Given the description of an element on the screen output the (x, y) to click on. 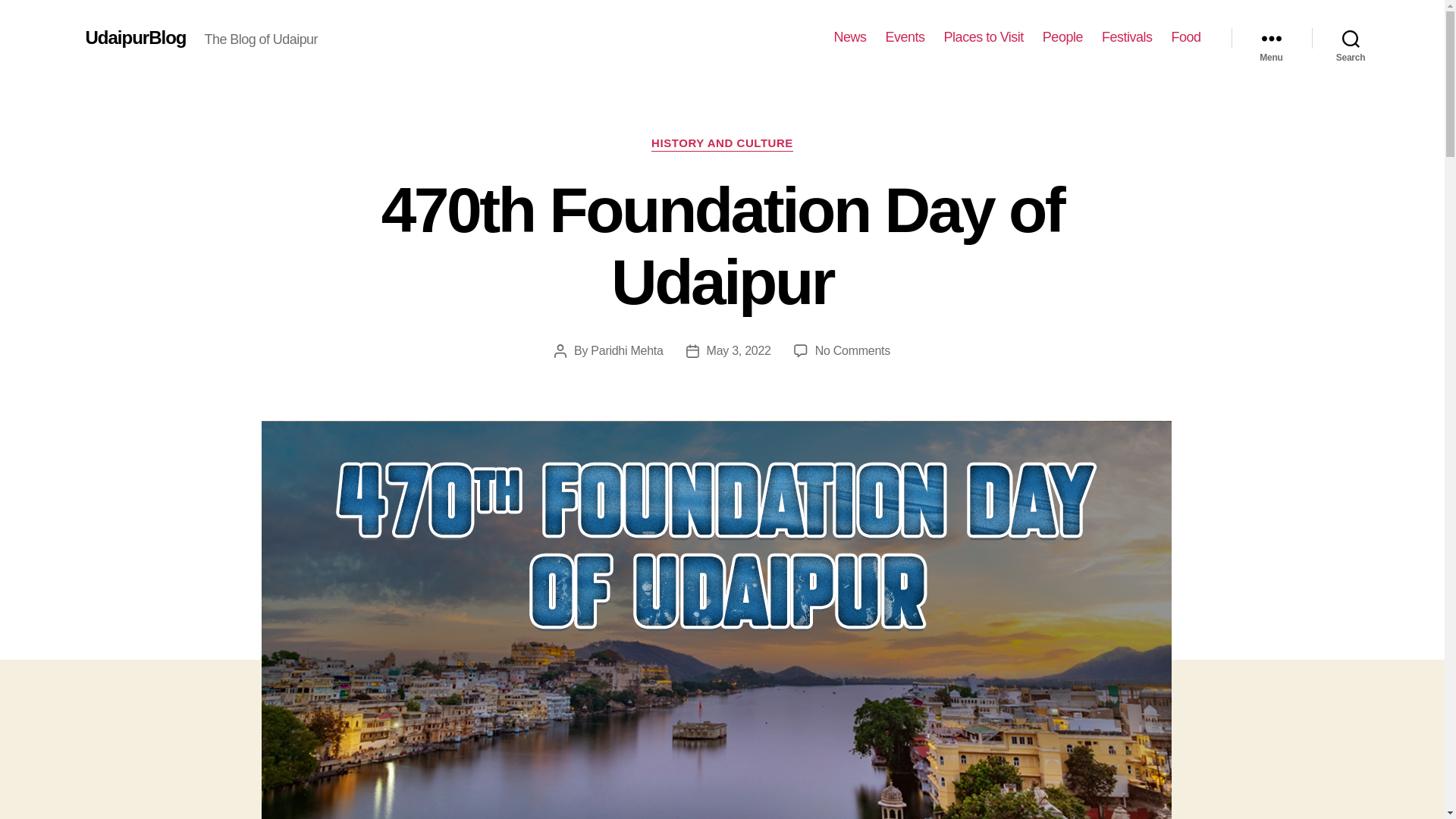
Paridhi Mehta (626, 350)
UdaipurBlog (135, 37)
News (850, 37)
Menu (1271, 37)
Events (904, 37)
Food (1184, 37)
Places to Visit (983, 37)
People (1062, 37)
HISTORY AND CULTURE (852, 350)
Festivals (721, 143)
Search (1127, 37)
May 3, 2022 (1350, 37)
